Given the description of an element on the screen output the (x, y) to click on. 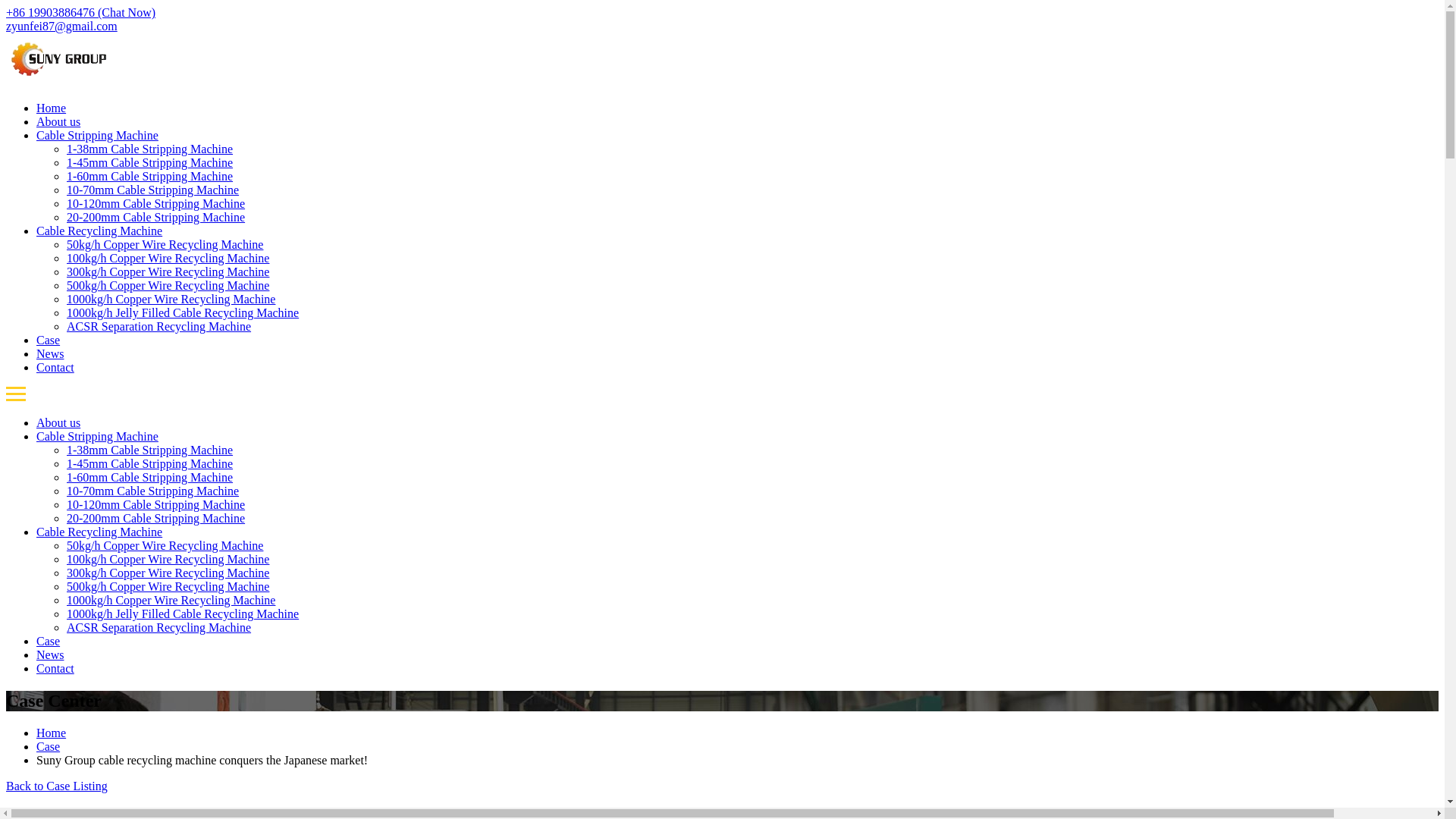
About us (58, 121)
1-38mm Cable Stripping Machine (149, 148)
10-70mm Cable Stripping Machine (152, 189)
1-38mm Cable Stripping Machine (149, 449)
Case (47, 339)
1-45mm Cable Stripping Machine (149, 162)
Cable Recycling Machine (98, 230)
suny (58, 82)
20-200mm Cable Stripping Machine (155, 216)
Cable Recycling Machine (98, 230)
10-70mm Cable Stripping Machine (152, 490)
1-60mm Cable Stripping Machine (149, 175)
News (50, 353)
Cable Stripping Machine (97, 436)
Home (50, 107)
